Given the description of an element on the screen output the (x, y) to click on. 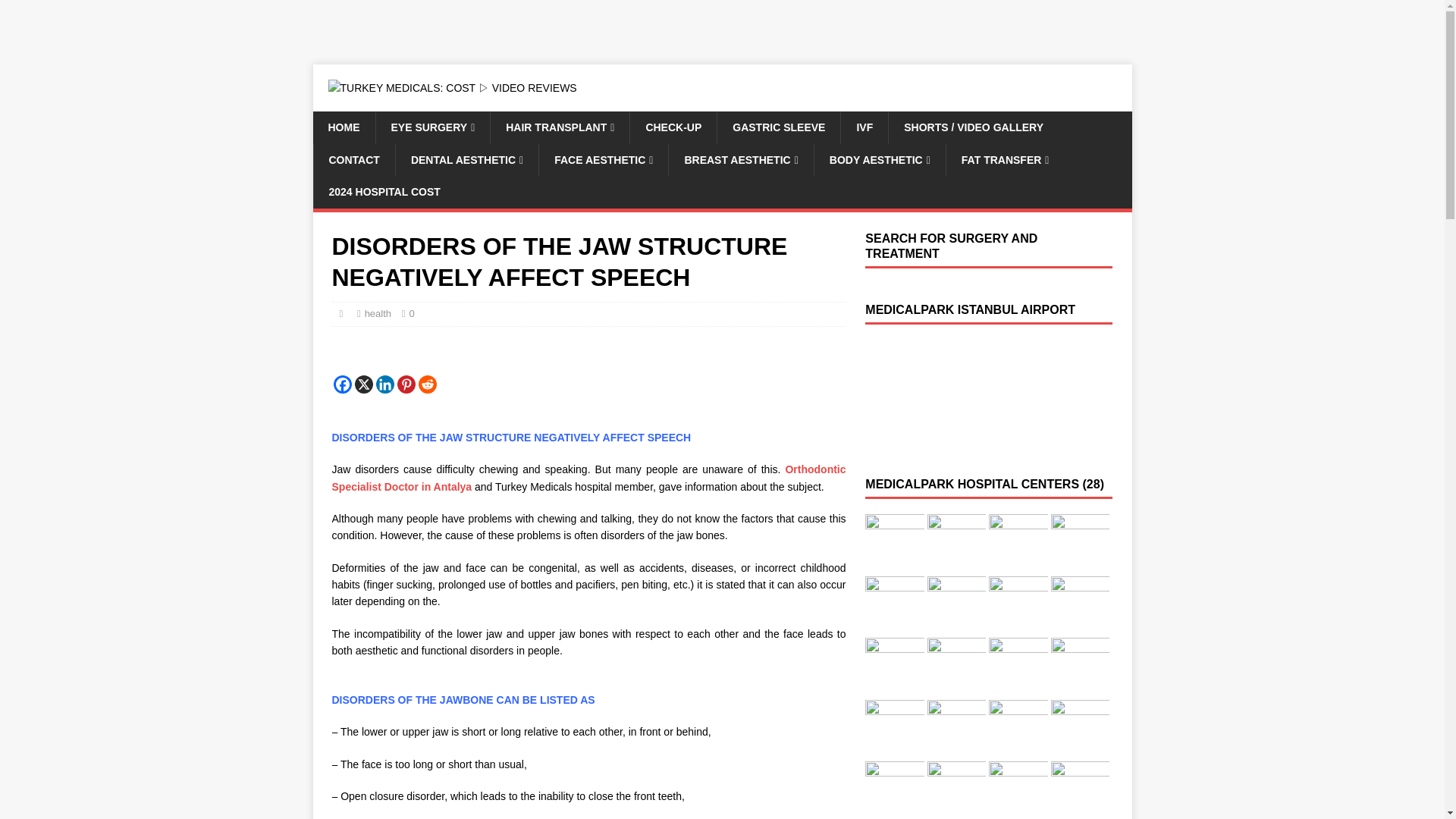
GASTRIC SLEEVE (778, 127)
Facebook (342, 384)
DENTAL AESTHETIC (466, 160)
X (363, 384)
EYE SURGERY (431, 127)
CONTACT (353, 160)
Reddit (427, 384)
IVF (864, 127)
Pinterest (405, 384)
CHECK-UP (672, 127)
